Given the description of an element on the screen output the (x, y) to click on. 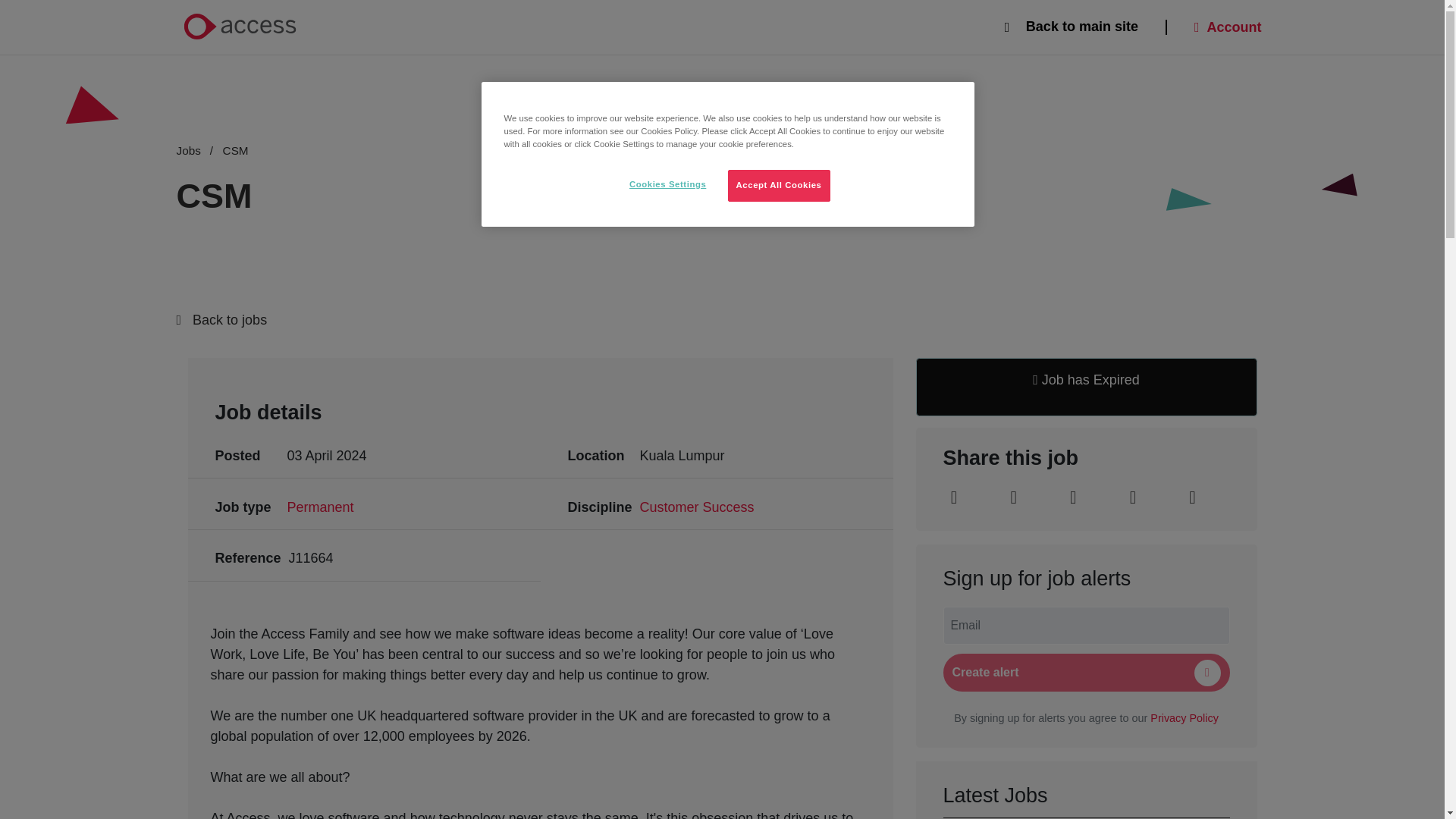
CSM (235, 150)
Create alert (1086, 672)
Back to jobs (714, 320)
Cookies Settings (667, 184)
Customer Success (697, 507)
Go to the Homepage (240, 26)
Jobs (197, 150)
Account (1227, 27)
Permanent (319, 507)
Privacy Policy (1184, 717)
